Given the description of an element on the screen output the (x, y) to click on. 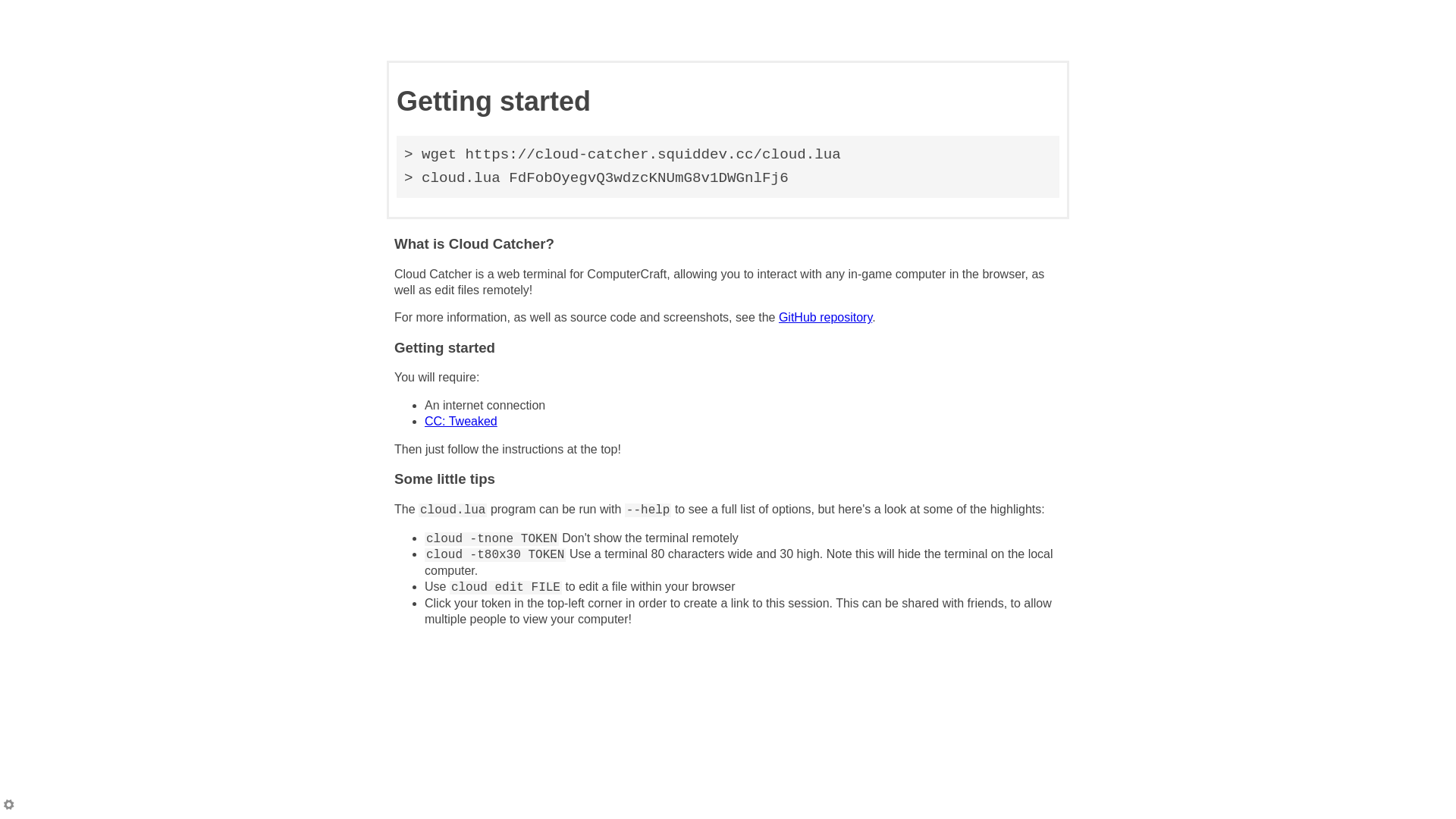
Configure how CloudCatcher behaves Element type: hover (9, 806)
CC: Tweaked Element type: text (460, 420)
GitHub repository Element type: text (825, 316)
